Given the description of an element on the screen output the (x, y) to click on. 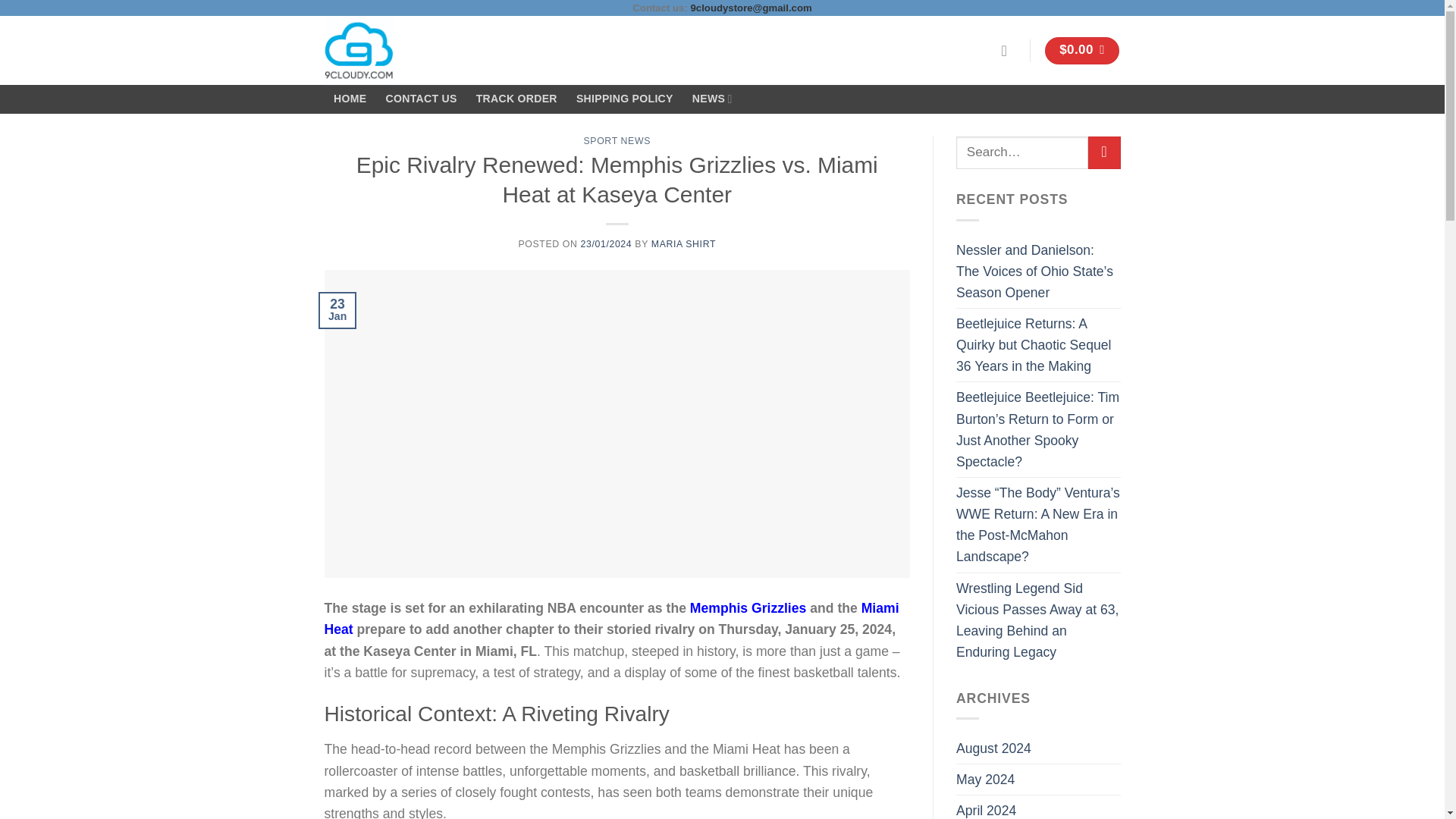
SPORT NEWS (616, 140)
Memphis Grizzlies (748, 607)
Cart (1082, 50)
HOME (349, 99)
TRACK ORDER (515, 99)
9cloudy - 9cloudy (386, 50)
Miami Heat (611, 618)
SHIPPING POLICY (624, 99)
